Given the description of an element on the screen output the (x, y) to click on. 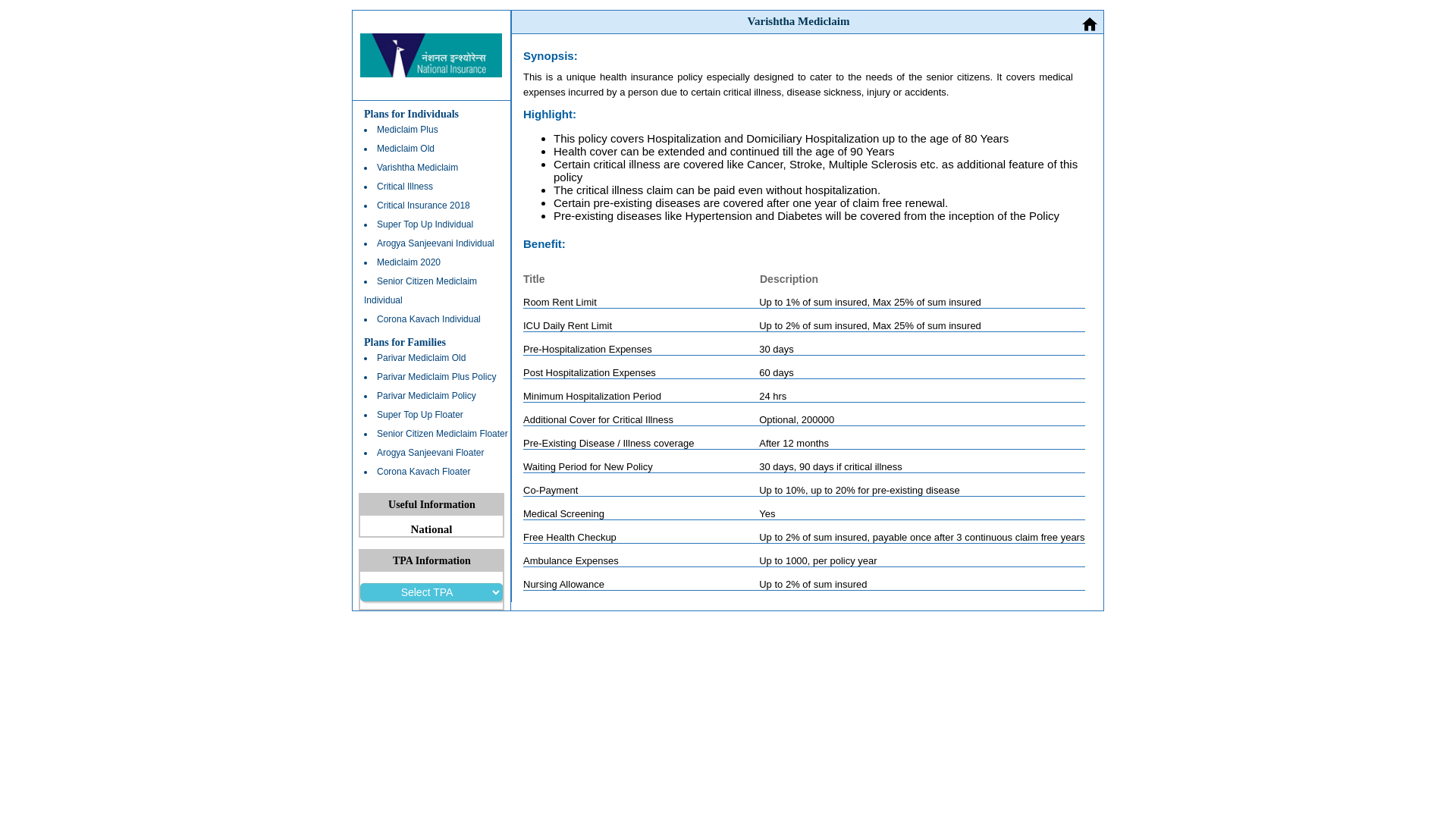
Senior Citizen Mediclaim Floater (431, 434)
Mediclaim Old (431, 148)
Arogya Sanjeevani Individual (431, 243)
Arogya Sanjeevani Floater (431, 452)
Senior Citizen Mediclaim Individual (431, 290)
Mediclaim Plus (431, 129)
Corona Kavach Floater (431, 471)
Parivar Mediclaim Policy (431, 395)
Critical Illness (431, 186)
Parivar Mediclaim Plus Policy (431, 376)
Super Top Up Individual (431, 224)
Varishtha Mediclaim (431, 167)
Mediclaim 2020 (431, 262)
Parivar Mediclaim Old (431, 357)
Super Top Up Floater (431, 415)
